Given the description of an element on the screen output the (x, y) to click on. 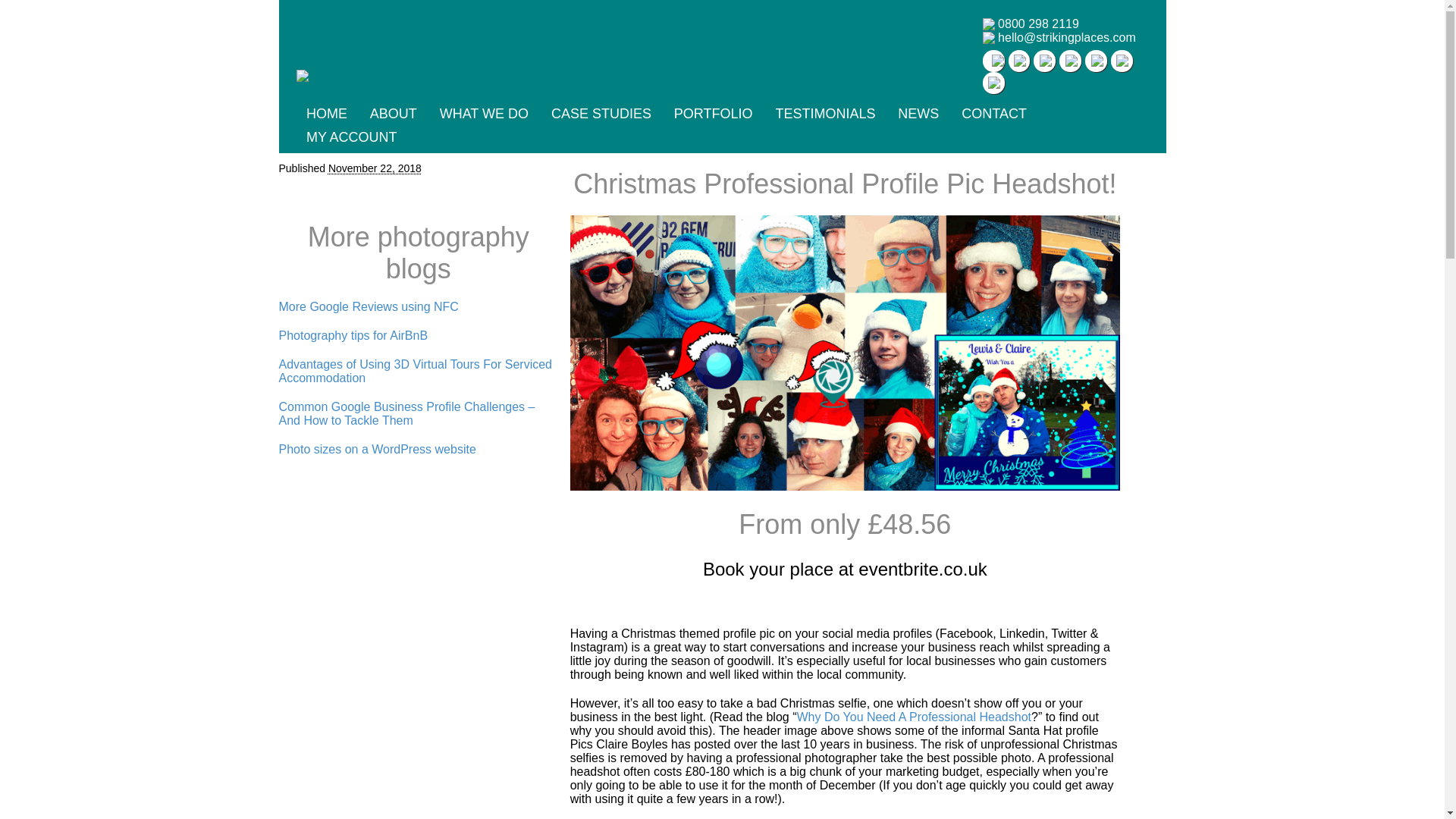
CASE STUDIES (601, 113)
ABOUT (393, 113)
TESTIMONIALS (824, 113)
CONTACT (993, 113)
Why you need a professional headshot photographer (913, 716)
WHAT WE DO (483, 113)
MY ACCOUNT (351, 137)
HOME (326, 113)
0800 298 2119 (1037, 24)
NEWS (917, 113)
PORTFOLIO (713, 113)
